Given the description of an element on the screen output the (x, y) to click on. 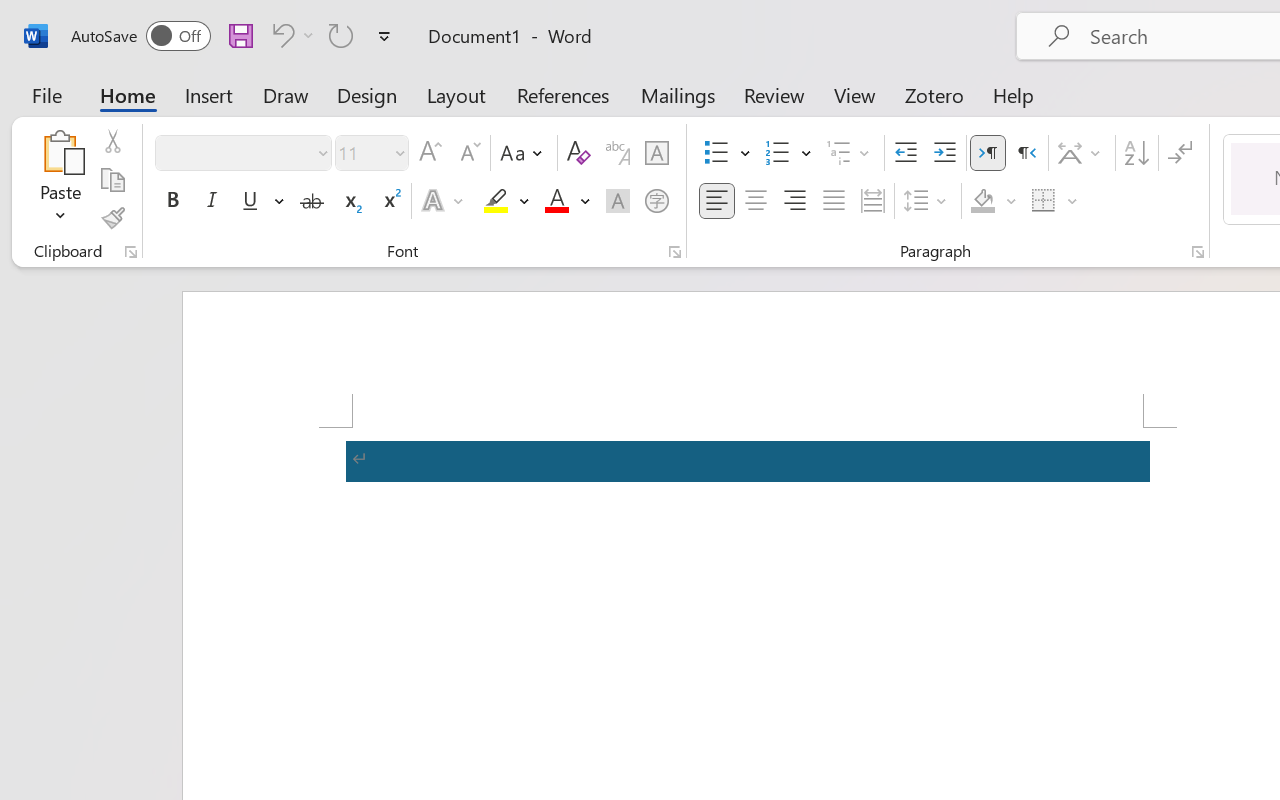
Right-to-Left (1026, 153)
